Given the description of an element on the screen output the (x, y) to click on. 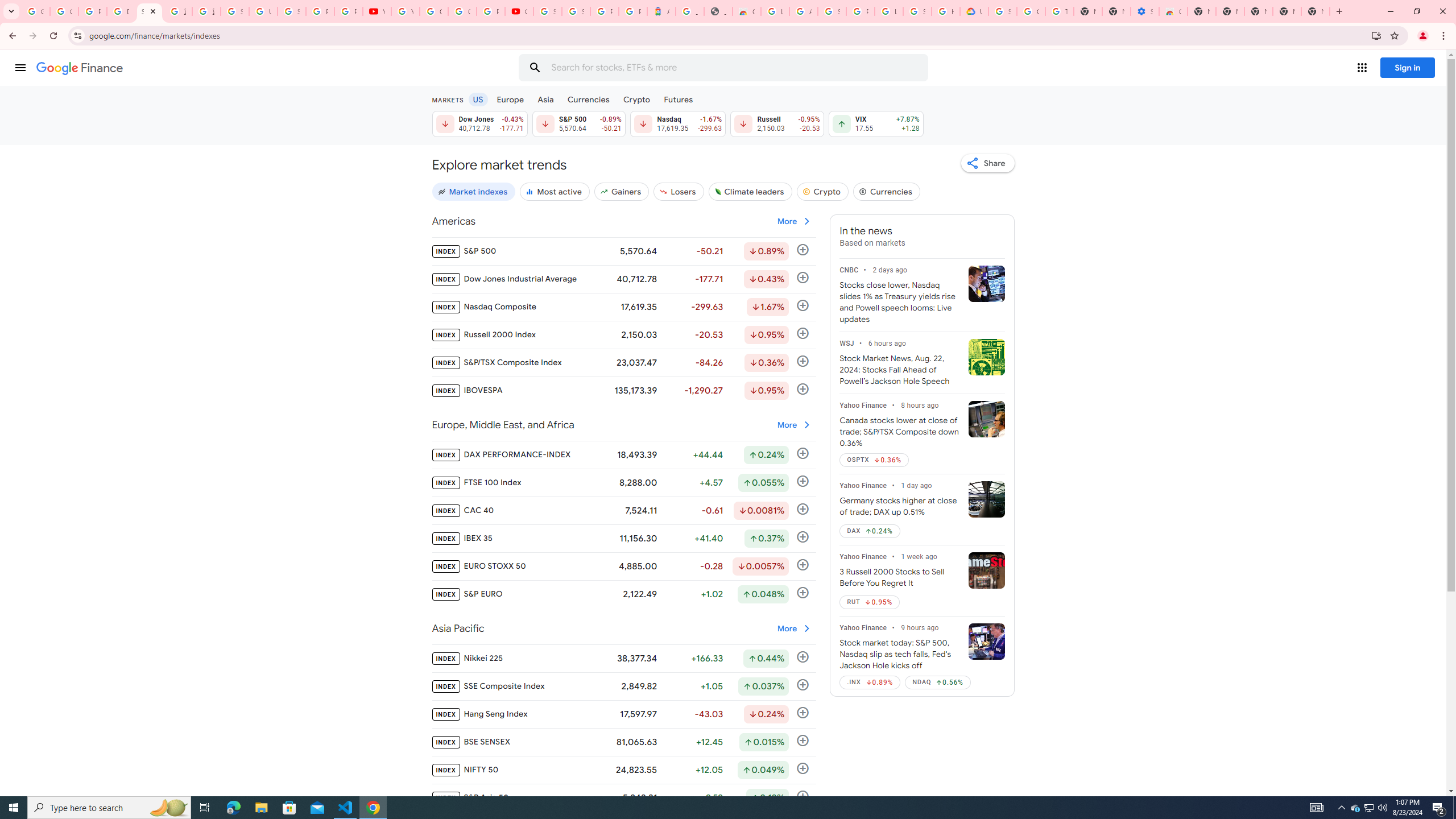
Europe (510, 99)
Sign in - Google Accounts (547, 11)
INDEX FTSE 100 Index 8,288.00 +4.57 Up by 0.055% Follow (623, 482)
Sign in - Google Accounts (831, 11)
Crypto (636, 99)
INDEX CAC 40 7,524.11 -0.61 Down by 0.0081% Follow (623, 510)
INDEX NIFTY 50 24,823.55 +12.05 Up by 0.042% Follow (623, 769)
Nasdaq 17,619.35 Down by 1.67% -299.63 (678, 123)
YouTube (405, 11)
Follow (802, 796)
